Given the description of an element on the screen output the (x, y) to click on. 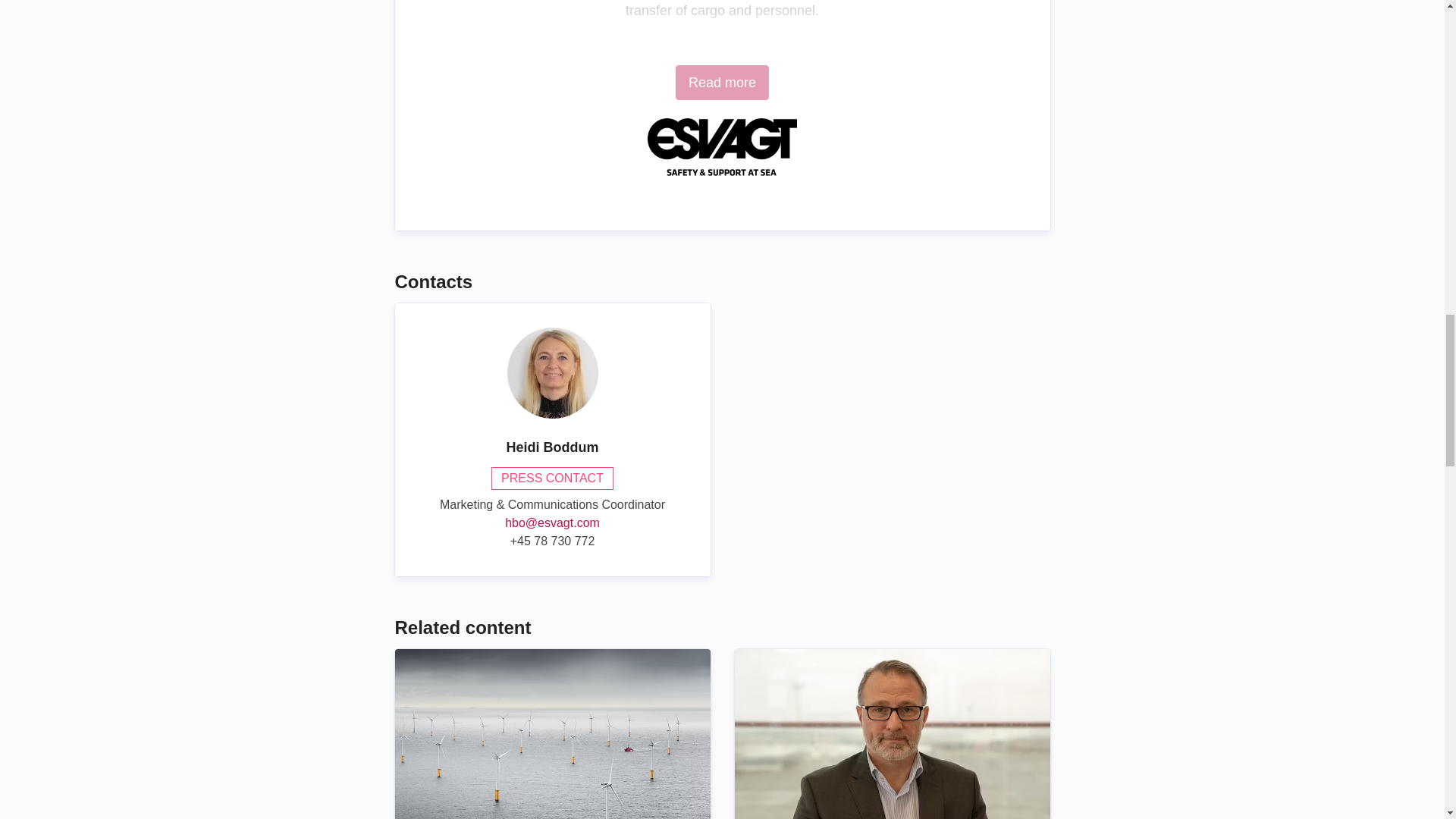
Read more (721, 82)
A sense of responsibility permeates ESVAGT  (891, 734)
